Given the description of an element on the screen output the (x, y) to click on. 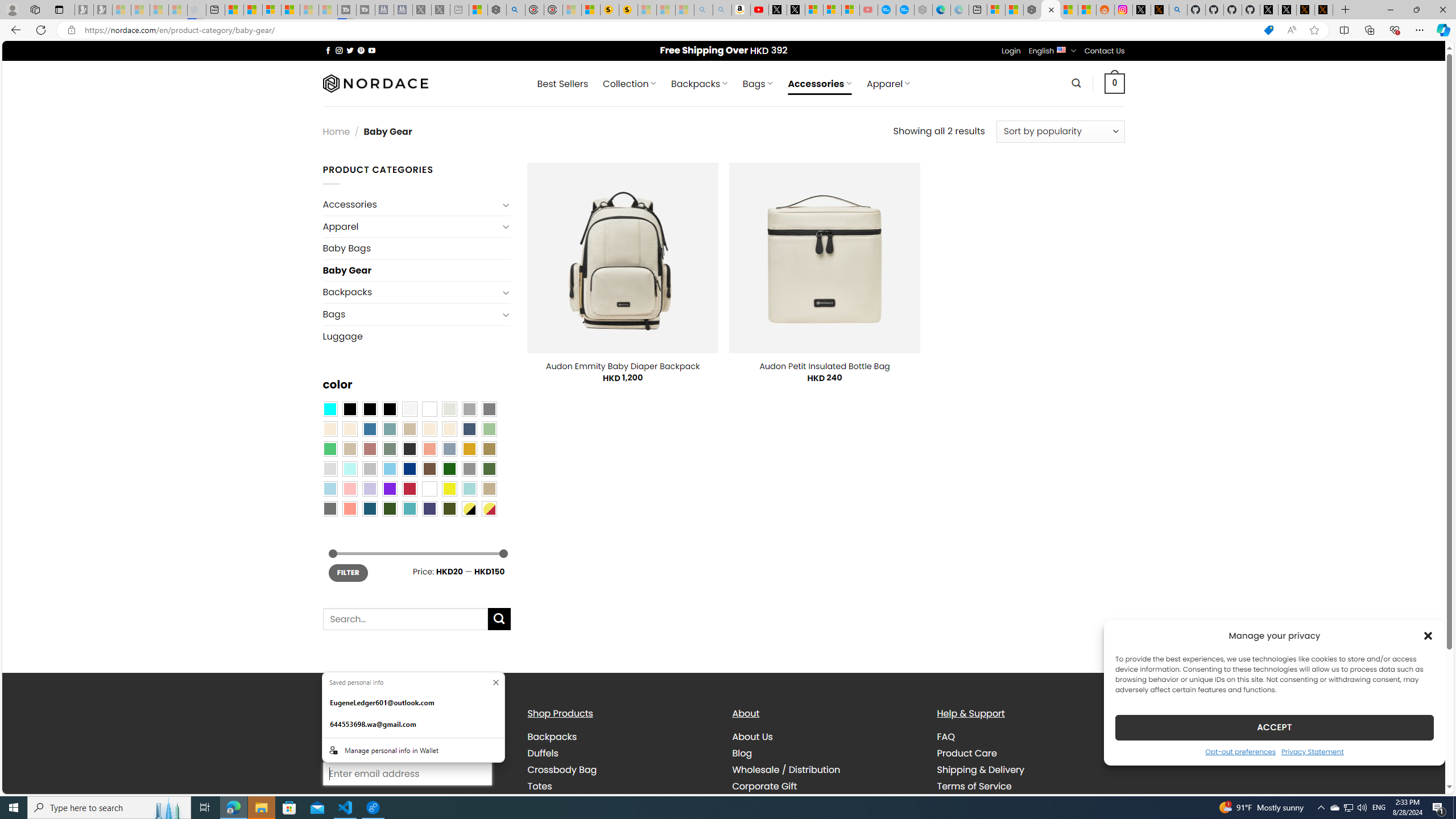
Submit (499, 618)
Audon Emmity Baby Diaper Backpack (623, 365)
Brown (429, 468)
GitHub (@github) / X (1287, 9)
Peach Pink (349, 508)
poe - Search (515, 9)
AutomationID: field_4_1 (406, 774)
Light Taupe (349, 448)
Charcoal (408, 448)
Yellow-Red (488, 508)
Kelp (488, 448)
